Given the description of an element on the screen output the (x, y) to click on. 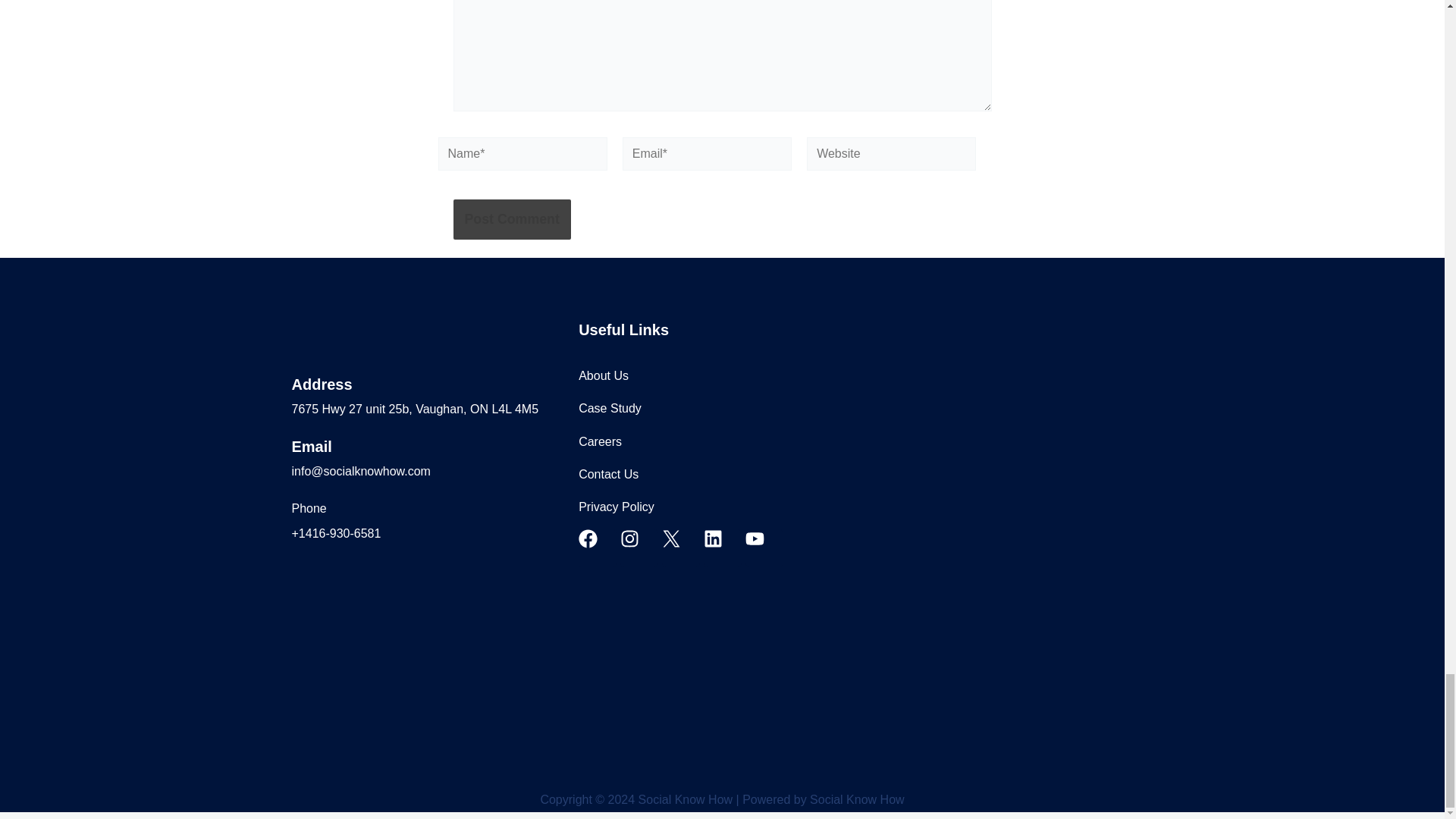
Post Comment (511, 219)
bbb (338, 608)
Meta Business Partner Badge (435, 607)
Certified Partner 2023-2024 (530, 608)
